Given the description of an element on the screen output the (x, y) to click on. 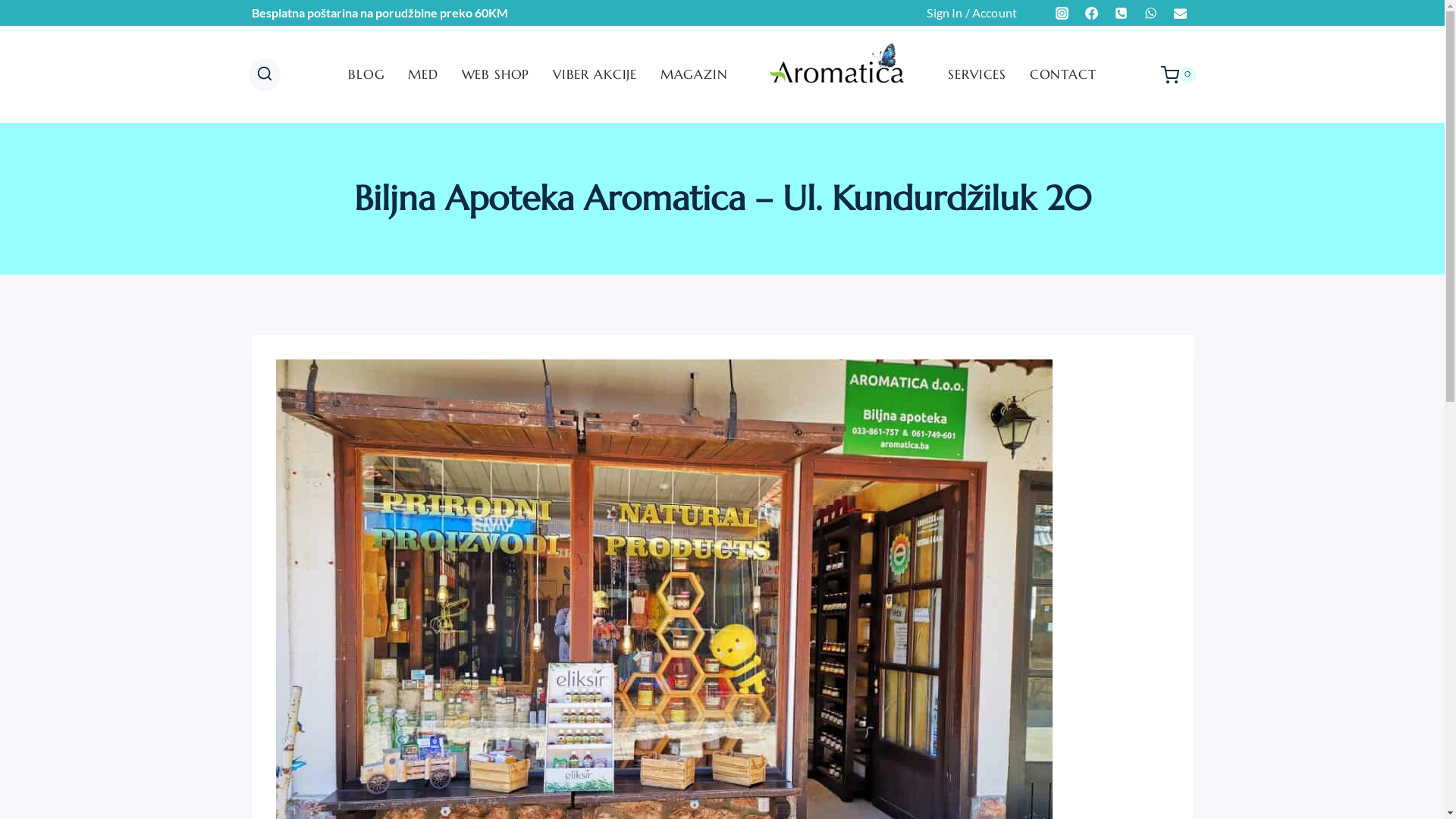
MAGAZIN Element type: text (693, 74)
VIBER AKCIJE Element type: text (595, 74)
CONTACT Element type: text (1062, 74)
MED Element type: text (422, 74)
Sign In / Account Element type: text (971, 12)
WEB SHOP Element type: text (494, 74)
BLOG Element type: text (366, 74)
0 Element type: text (1178, 74)
SERVICES Element type: text (976, 74)
